Given the description of an element on the screen output the (x, y) to click on. 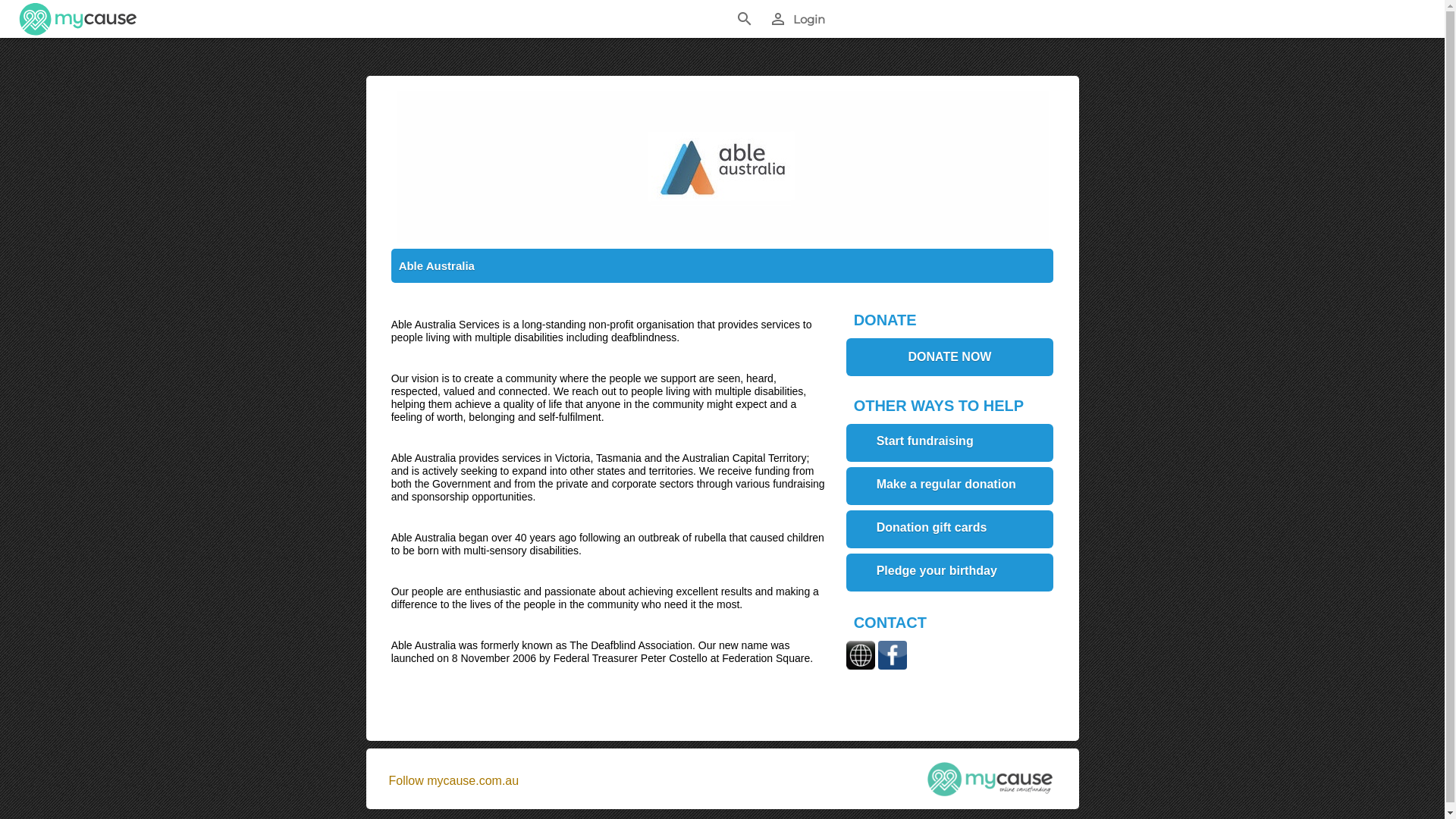
Donation gift cards Element type: text (950, 569)
perm_identity
Login Element type: text (798, 18)
DONATE NOW Element type: text (950, 357)
Able Australia Element type: text (436, 265)
Pledge your birthday Element type: text (950, 612)
Make a regular donation Element type: text (950, 526)
Follow mycause.com.au Element type: text (453, 780)
search Element type: text (744, 18)
Start fundraising Element type: text (950, 461)
